Given the description of an element on the screen output the (x, y) to click on. 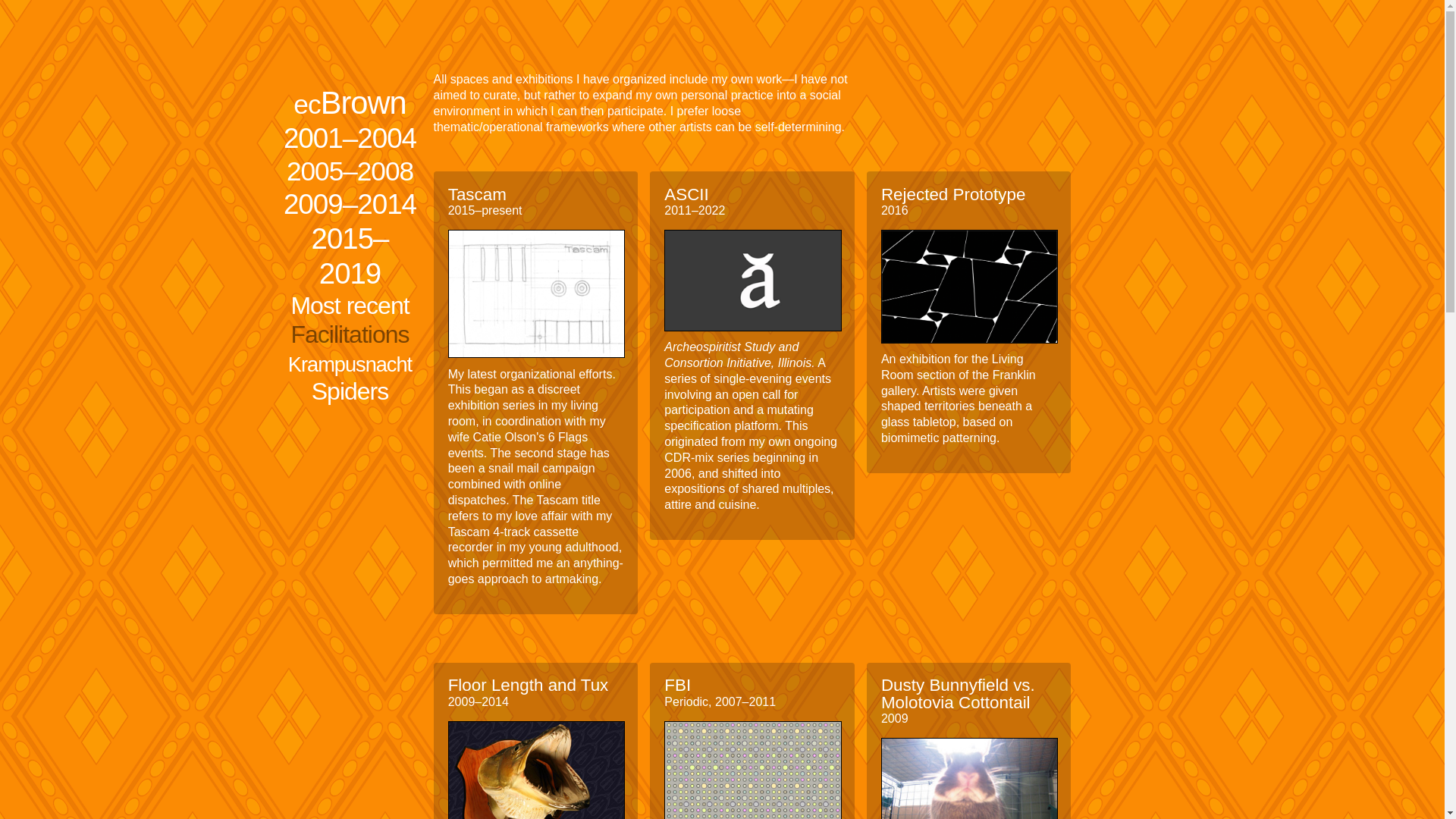
ecBrown (350, 103)
Facilitations (350, 334)
Rejected Prototype (952, 194)
FBI (676, 684)
Tascam (477, 194)
Spiders (350, 390)
Krampusnacht (350, 364)
Floor Length and Tux (528, 684)
ASCII (685, 194)
Dusty Bunnyfield vs. Molotovia Cottontail (957, 693)
